Given the description of an element on the screen output the (x, y) to click on. 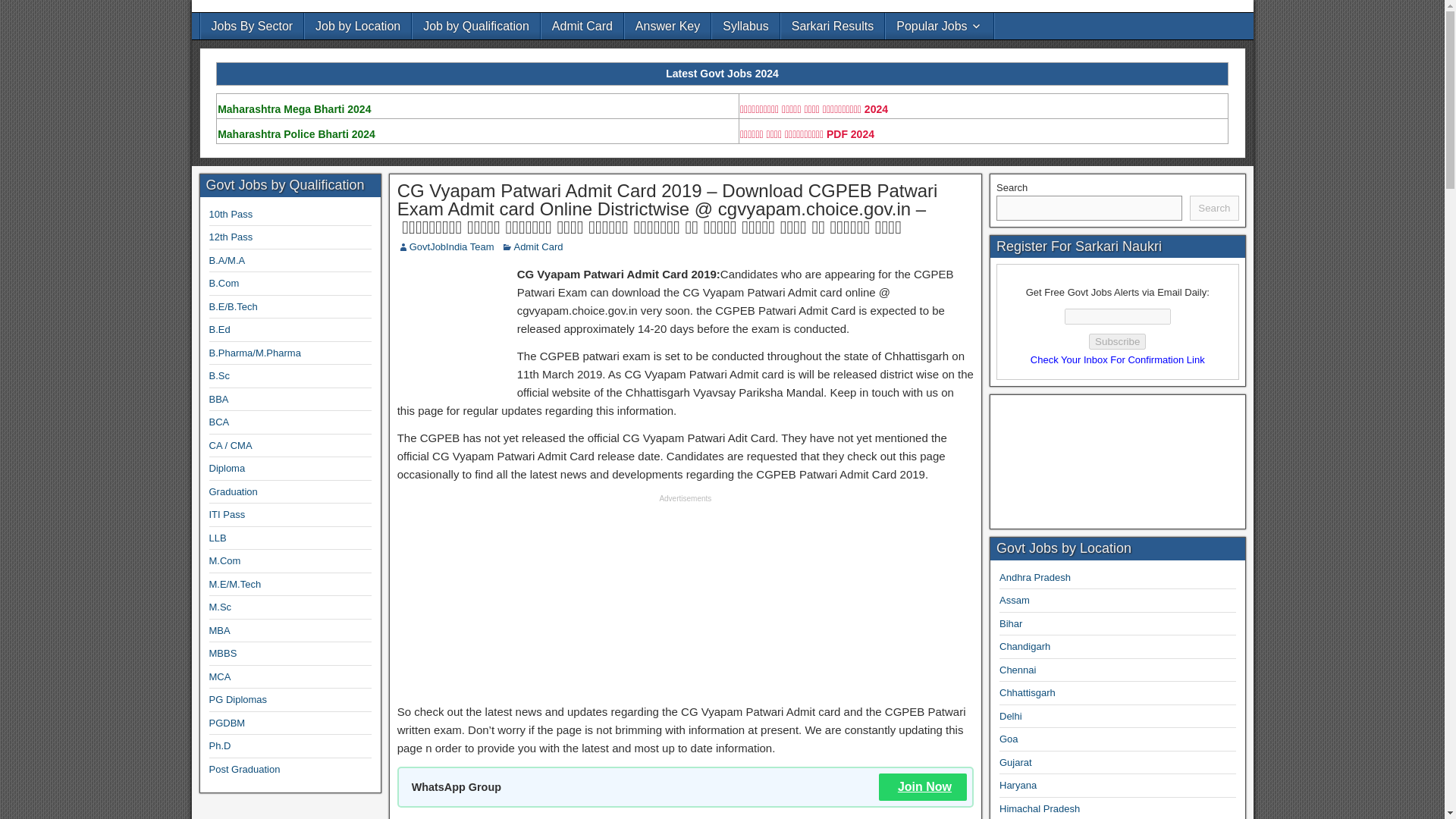
Answer Key (667, 26)
GovtJobIndia Team (452, 246)
Sarkari Results (831, 26)
Subscribe (1117, 341)
Popular Jobs (938, 26)
Admit Card (582, 26)
10th Pass (231, 214)
12th Pass (231, 236)
Maharashtra Police Bharti 2024 (297, 133)
Admit Card (537, 246)
